Given the description of an element on the screen output the (x, y) to click on. 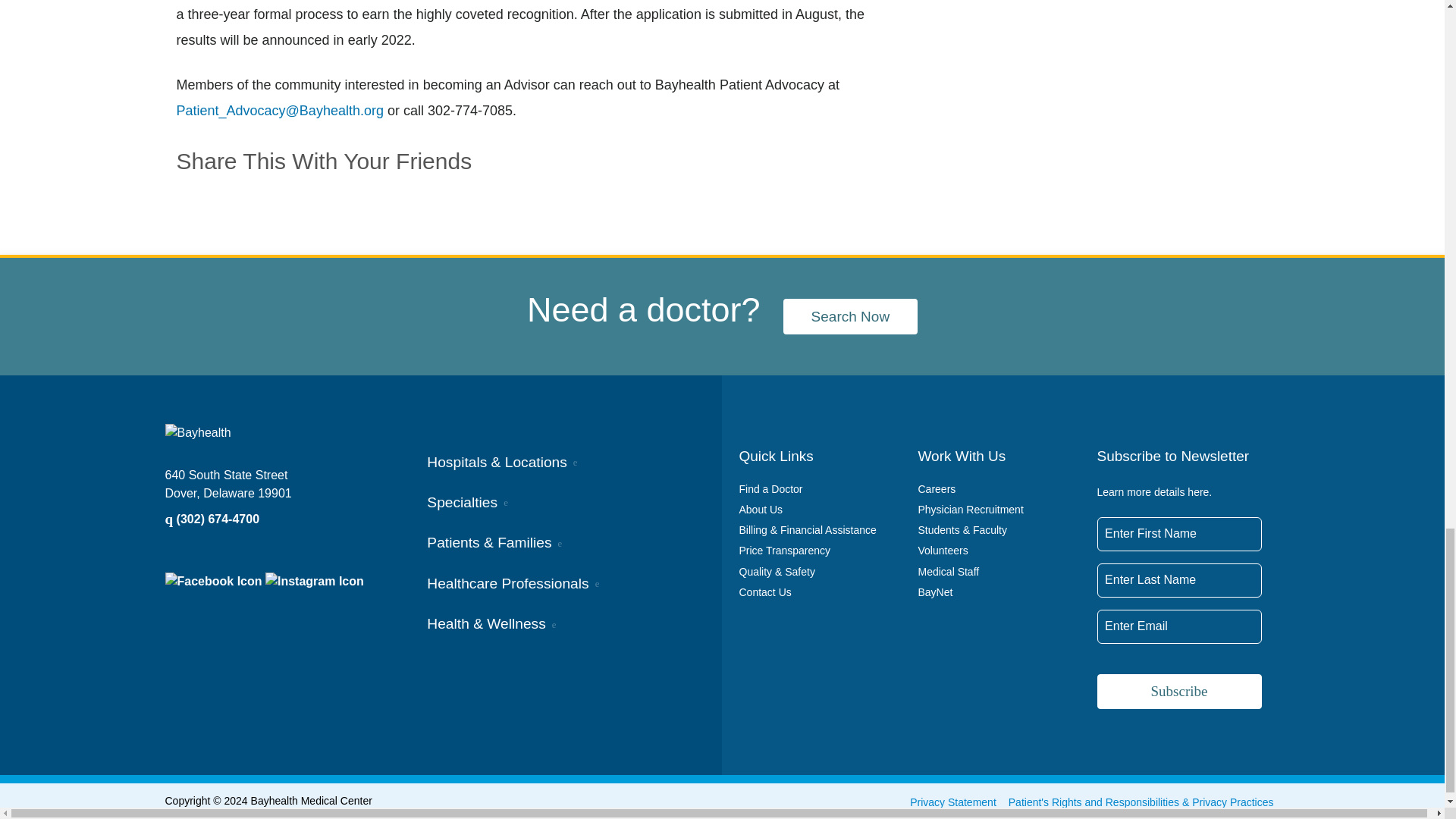
Subscribe (1178, 691)
